Given the description of an element on the screen output the (x, y) to click on. 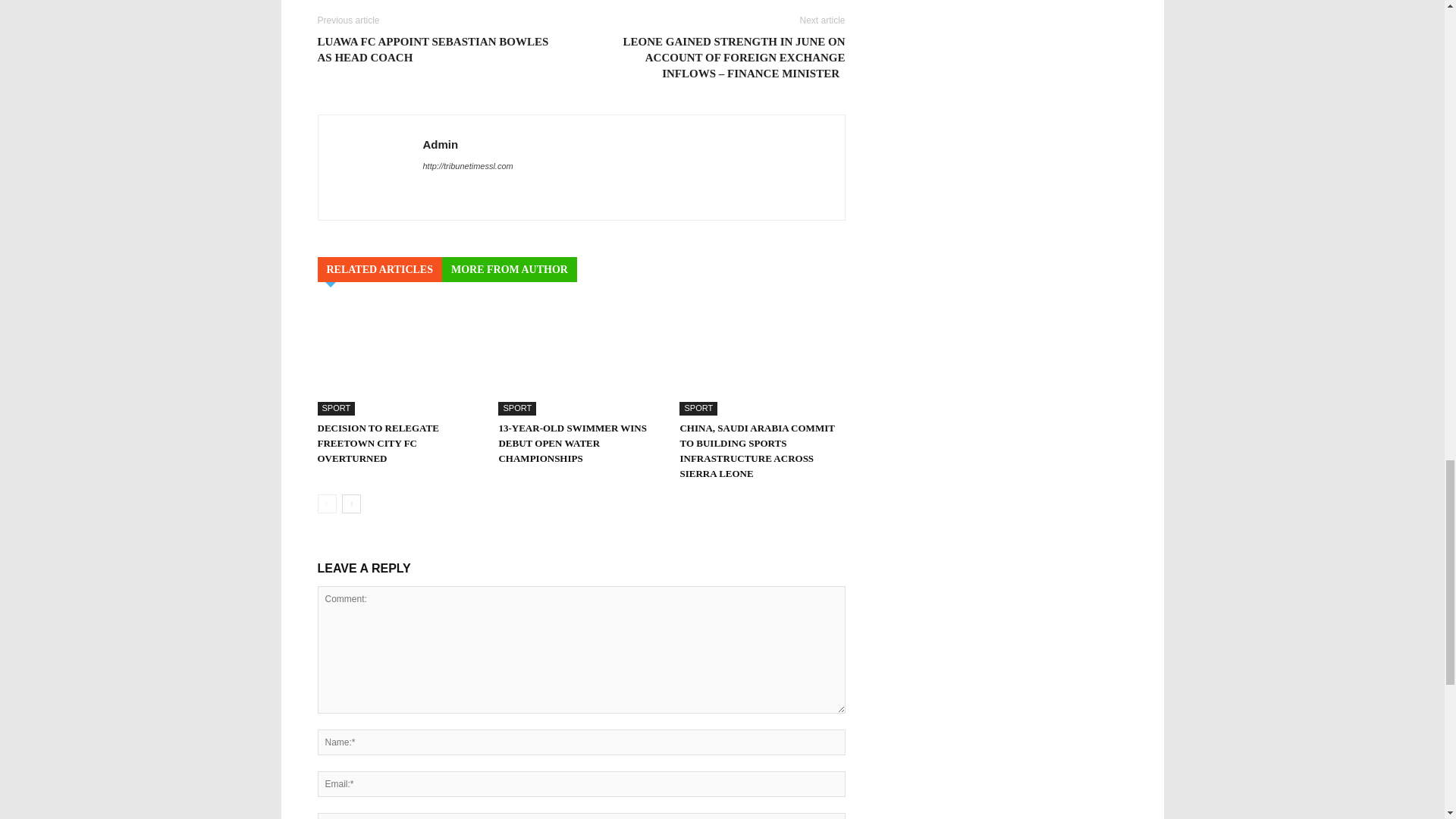
Decision to relegate Freetown City FC overturned (377, 443)
Decision to relegate Freetown City FC overturned (399, 358)
